Given the description of an element on the screen output the (x, y) to click on. 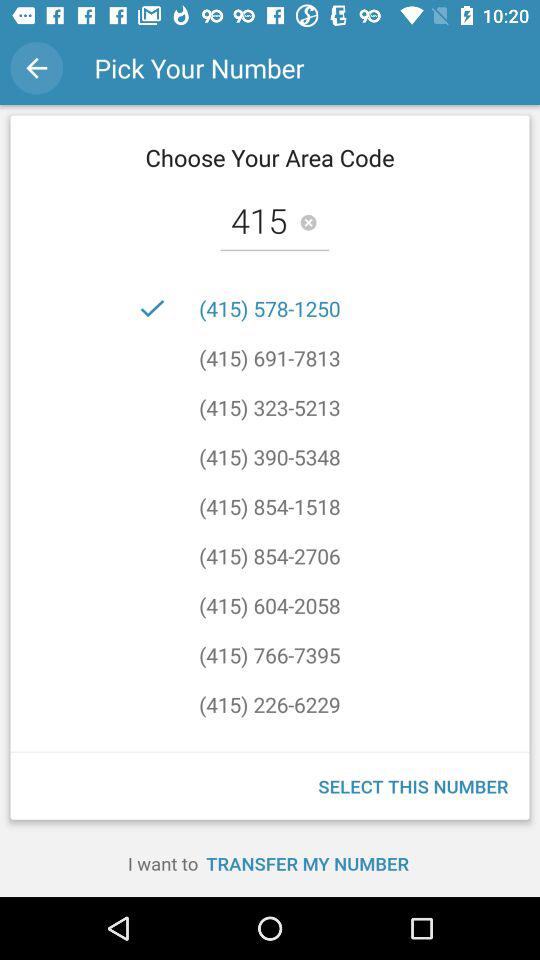
click the item above the (415) 854-1518 (269, 456)
